Given the description of an element on the screen output the (x, y) to click on. 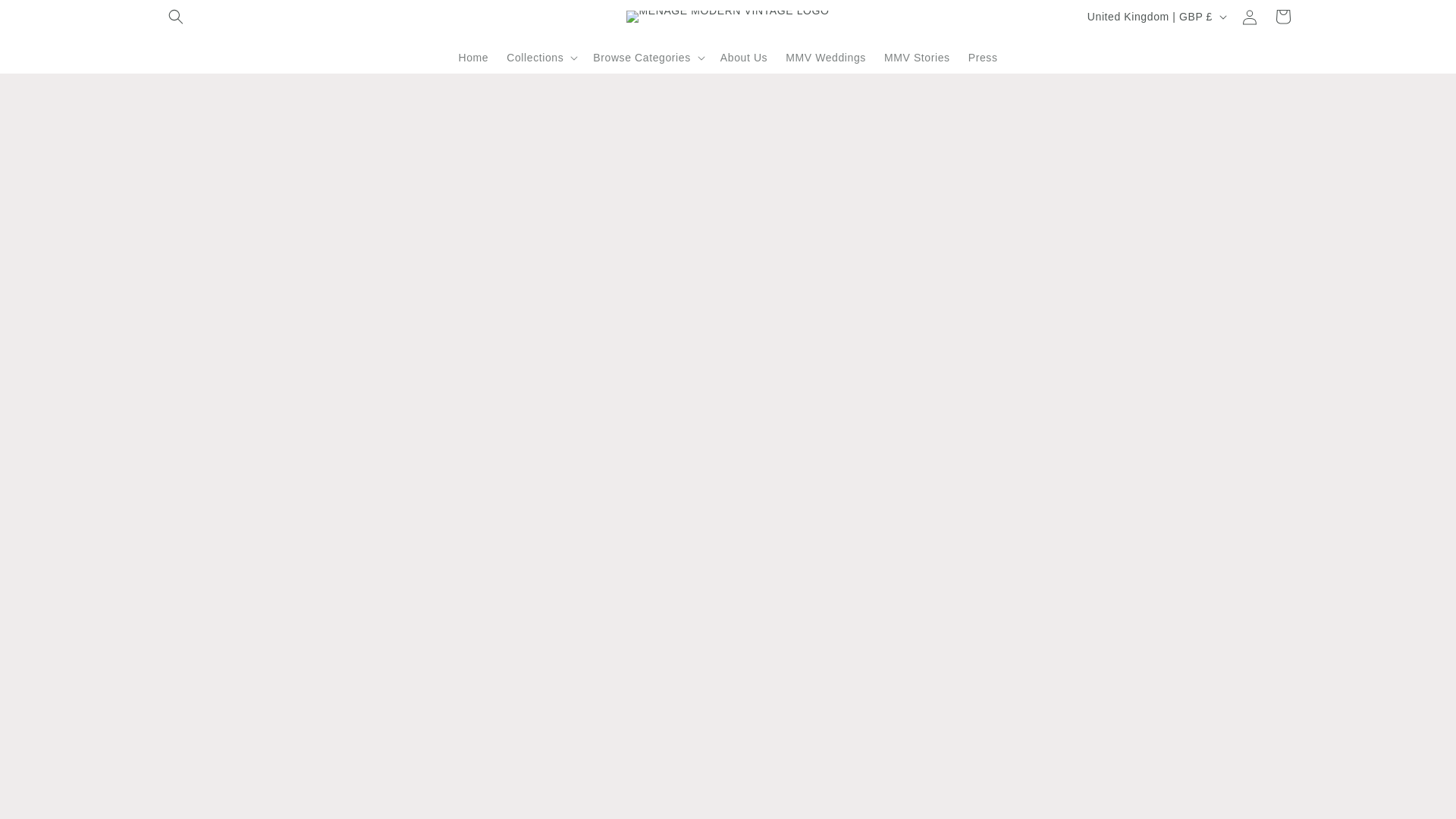
Skip to content (45, 17)
Home (472, 56)
